Given the description of an element on the screen output the (x, y) to click on. 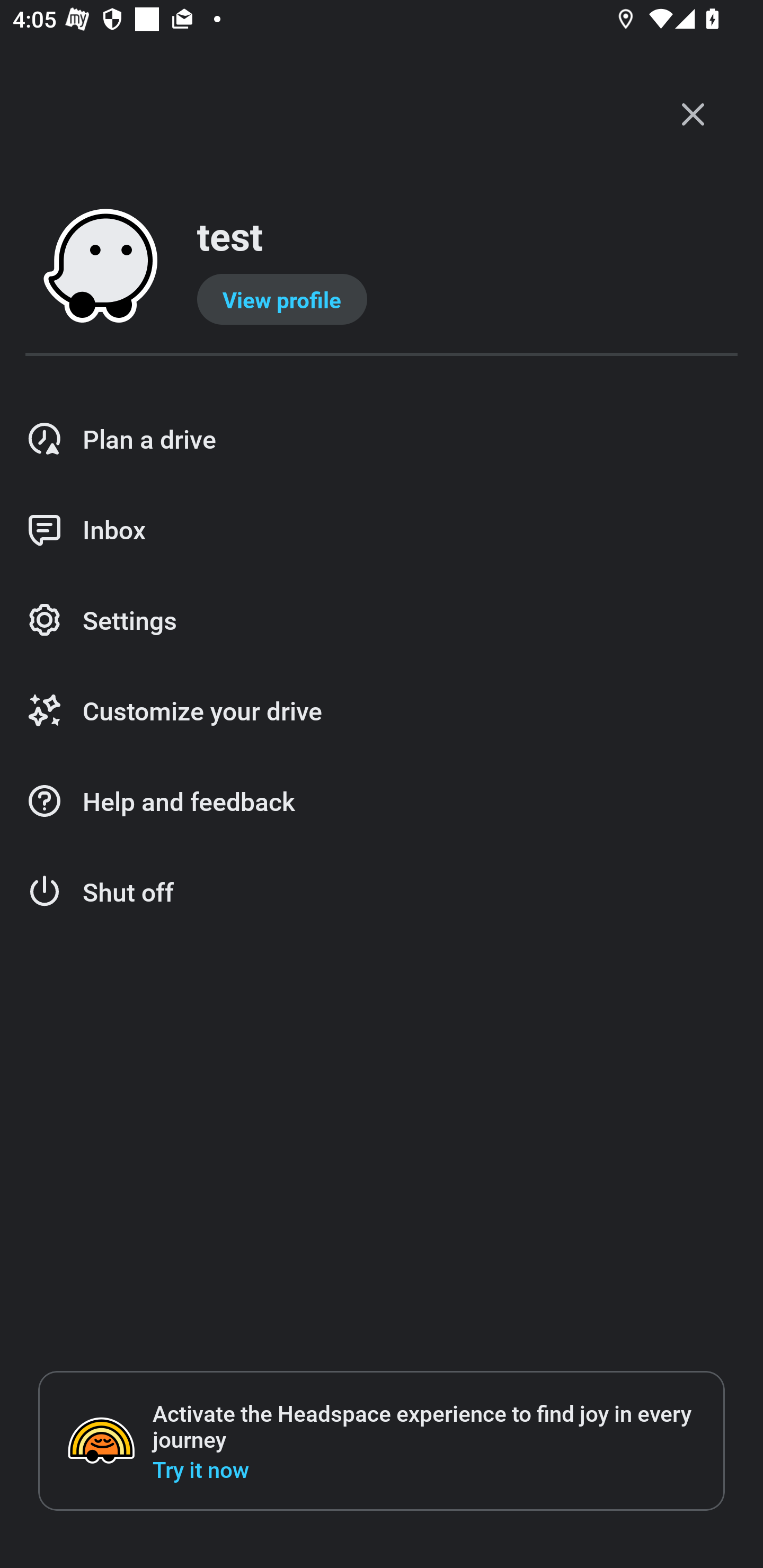
test View profile (381, 266)
View profile (281, 299)
ACTION_CELL_ICON Plan a drive ACTION_CELL_TEXT (381, 438)
ACTION_CELL_ICON Inbox ACTION_CELL_TEXT (381, 529)
ACTION_CELL_ICON Settings ACTION_CELL_TEXT (381, 620)
ACTION_CELL_ICON Shut off ACTION_CELL_TEXT (381, 891)
